Given the description of an element on the screen output the (x, y) to click on. 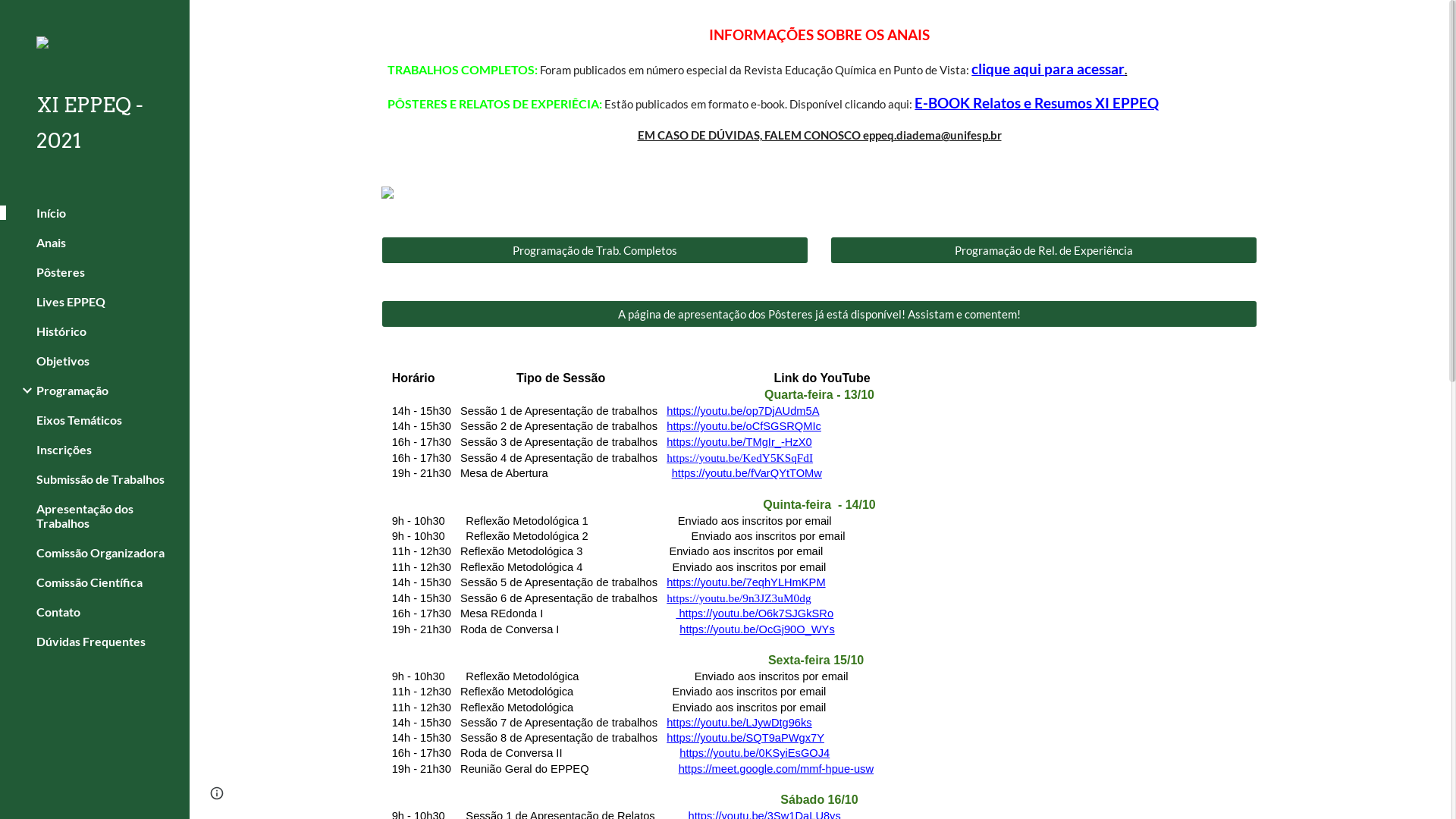
 https://youtu.be/9n3JZ3uM0dg Element type: text (736, 597)
https://youtu.be/SQT9aPWgx7Y Element type: text (745, 737)
Lives EPPEQ Element type: text (106, 301)
https://youtu.be/OcGj90O_WYs Element type: text (756, 629)
E-BOOK Relatos e Resumos XI EPPEQ Element type: text (1036, 103)
Contato Element type: text (106, 611)
https://youtu.be/0KSyiEsGOJ4 Element type: text (754, 752)
 https://youtu.be/KedY5KSqFdI Element type: text (737, 457)
https://youtu.be/7eqhYLHmKPM Element type: text (745, 582)
Objetivos Element type: text (106, 360)
 https://youtu.be/op7DjAUdm5A Element type: text (741, 410)
https://youtu.be/fVarQYtTOMw Element type: text (746, 473)
https://youtu.be/LJywDtg96ks Element type: text (738, 722)
 https://youtu.be/oCfSGSRQMIc Element type: text (742, 426)
https://meet.google.com/mmf-hpue-usw Element type: text (775, 768)
 https://youtu.be/O6k7SJGkSRo Element type: text (754, 613)
clique aqui para acessar Element type: text (1047, 69)
XI EPPEQ - 2021 Element type: text (100, 122)
https://youtu.be/TMgIr_-HzX0 Element type: text (738, 442)
Anais Element type: text (106, 242)
Expand/Collapse Element type: hover (22, 390)
